Given the description of an element on the screen output the (x, y) to click on. 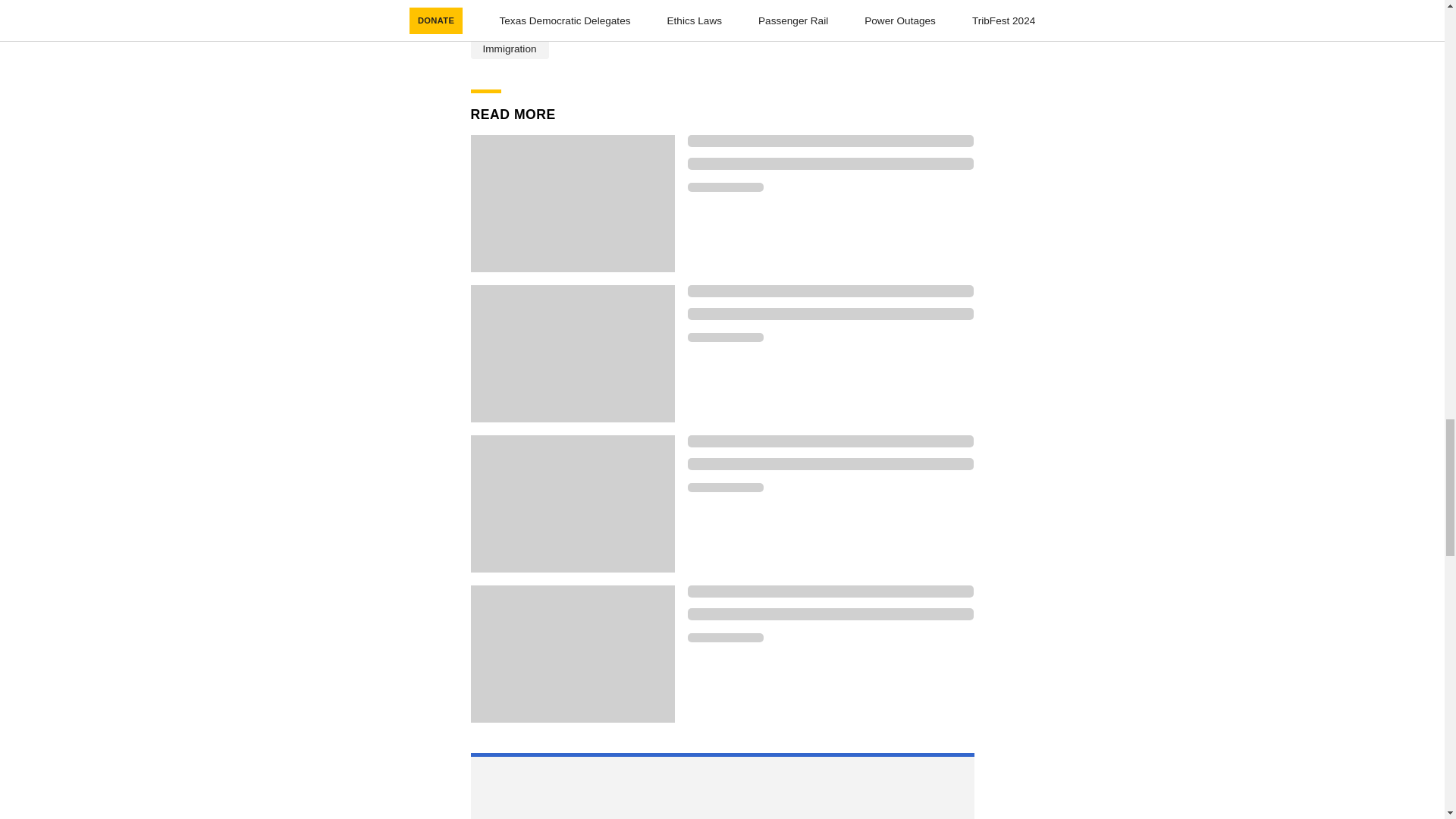
Loading indicator (724, 487)
Loading indicator (830, 313)
Loading indicator (830, 591)
Loading indicator (830, 613)
Loading indicator (724, 337)
Loading indicator (830, 440)
Loading indicator (724, 637)
Loading indicator (830, 291)
Loading indicator (830, 141)
Loading indicator (830, 463)
Loading indicator (724, 186)
Loading indicator (830, 163)
